Given the description of an element on the screen output the (x, y) to click on. 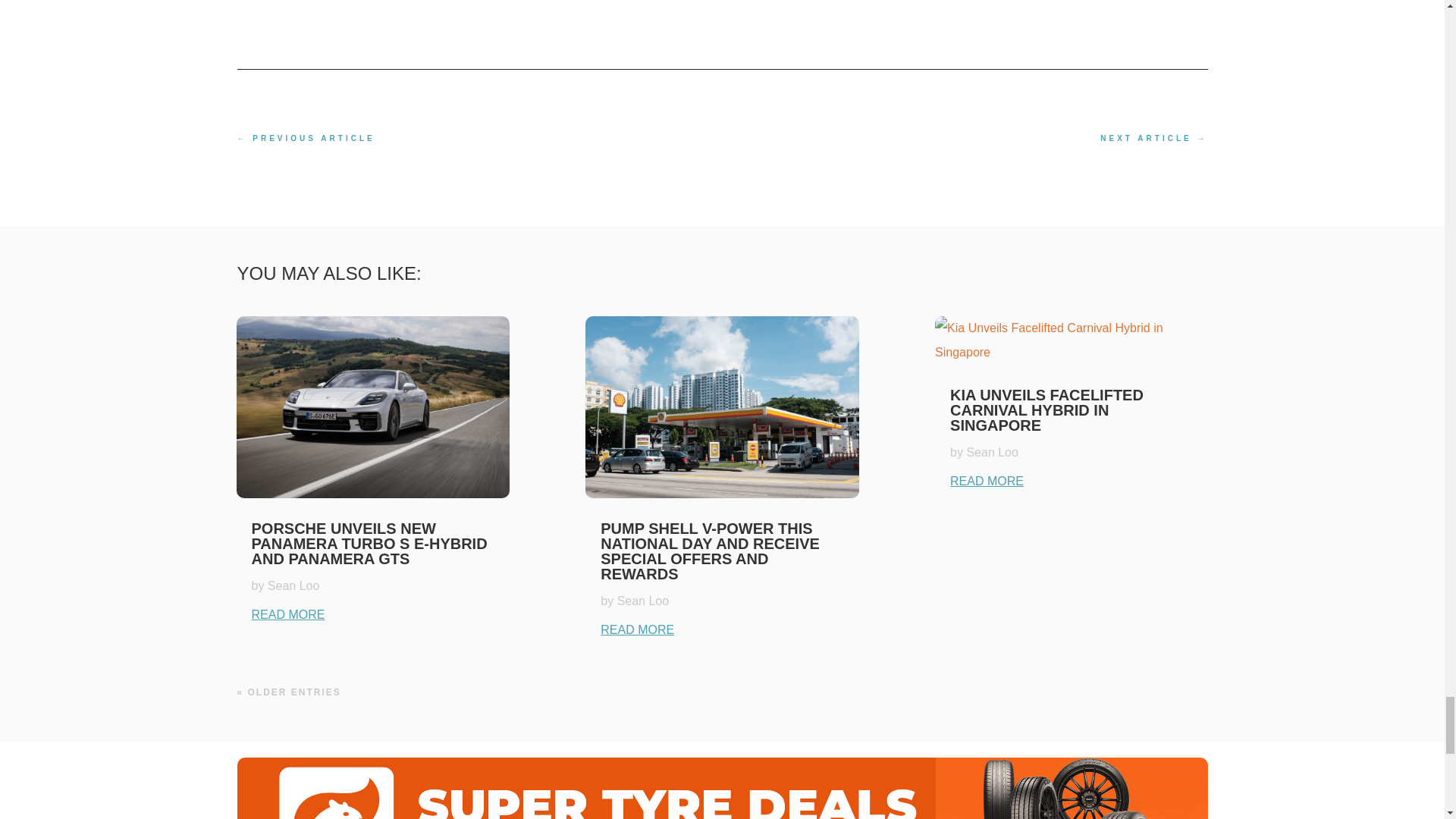
Posts by Sean Loo (293, 585)
autoapp super tyre deals longer copy (721, 788)
Posts by Sean Loo (991, 451)
Posts by Sean Loo (643, 600)
